Given the description of an element on the screen output the (x, y) to click on. 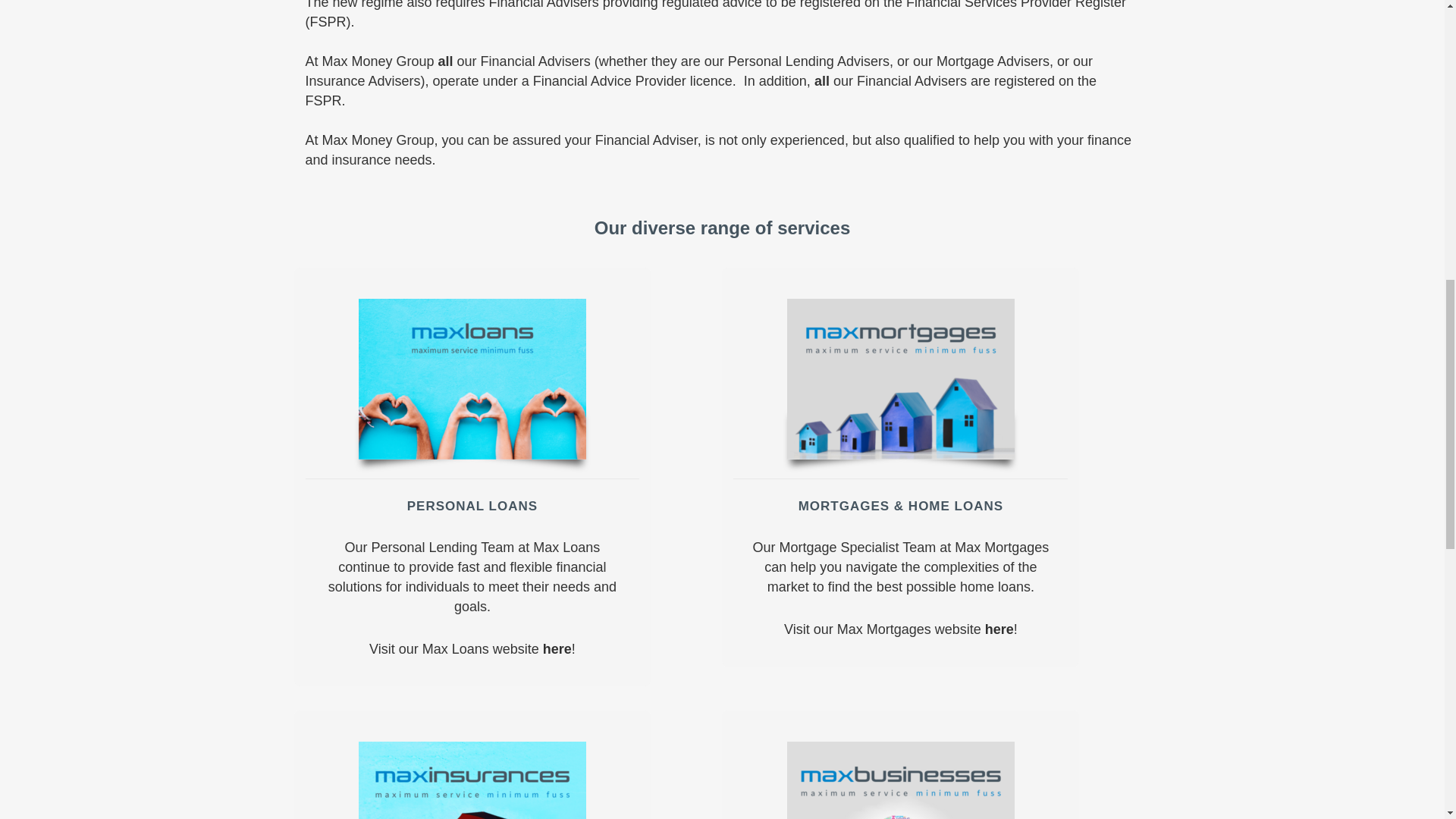
here (557, 648)
here (999, 629)
